Given the description of an element on the screen output the (x, y) to click on. 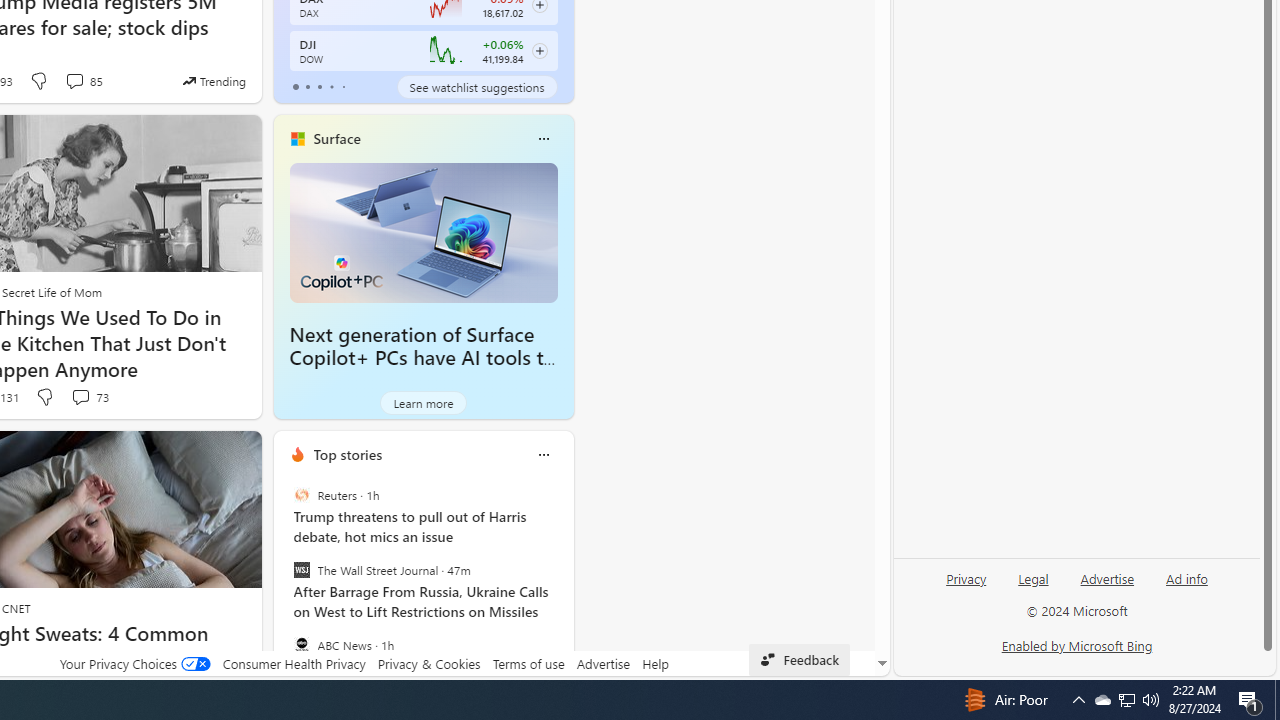
View comments 73 Comment (88, 397)
View comments 85 Comment (83, 80)
Learn more (423, 402)
tab-4 (342, 86)
View comments 73 Comment (80, 396)
